Given the description of an element on the screen output the (x, y) to click on. 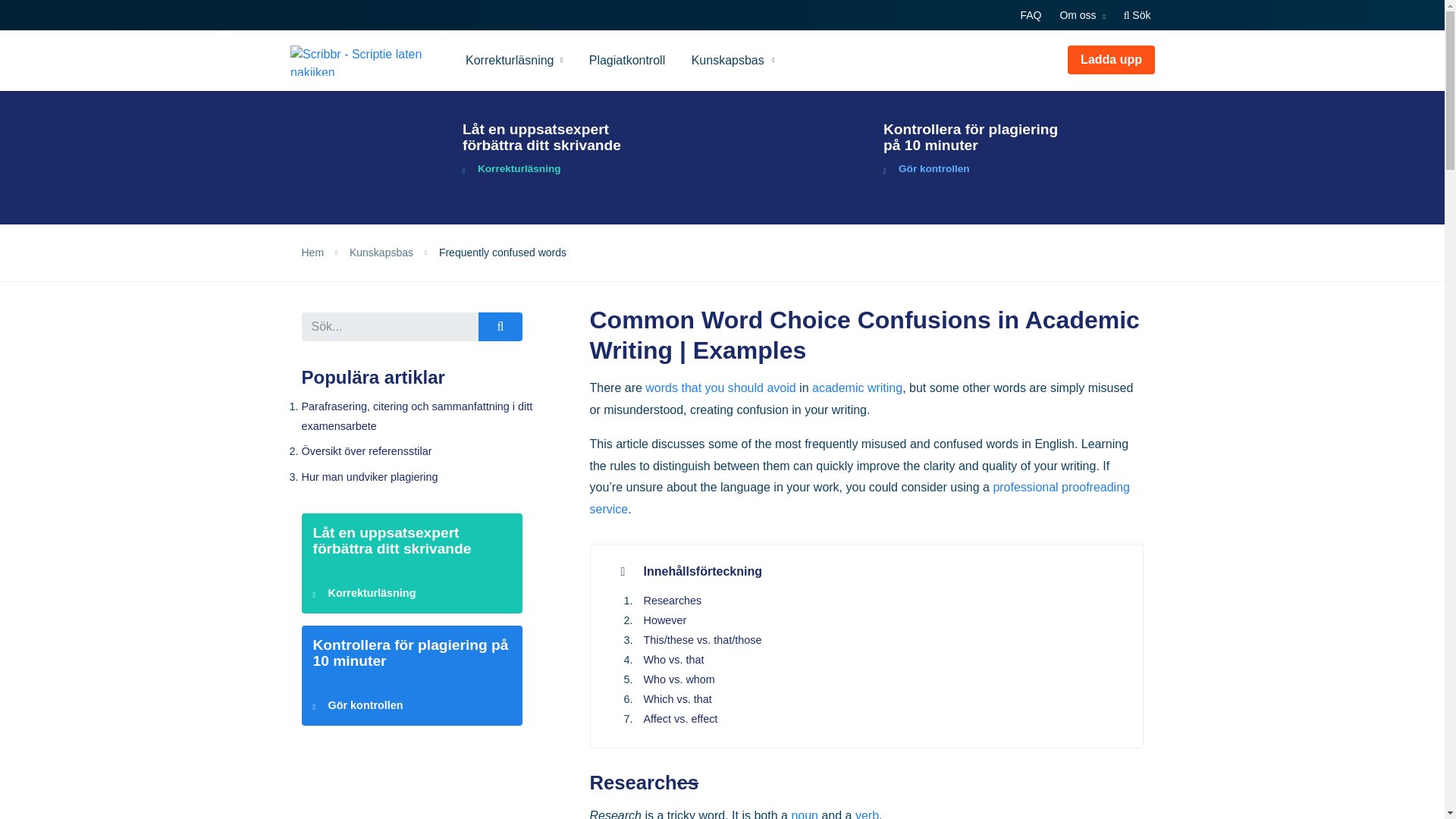
Kunskapsbas (732, 60)
Hur man undviker plagiering (369, 476)
Ladda upp (1110, 59)
Plagiatkontroll (627, 60)
Om oss (1081, 15)
FAQ (1030, 15)
